Given the description of an element on the screen output the (x, y) to click on. 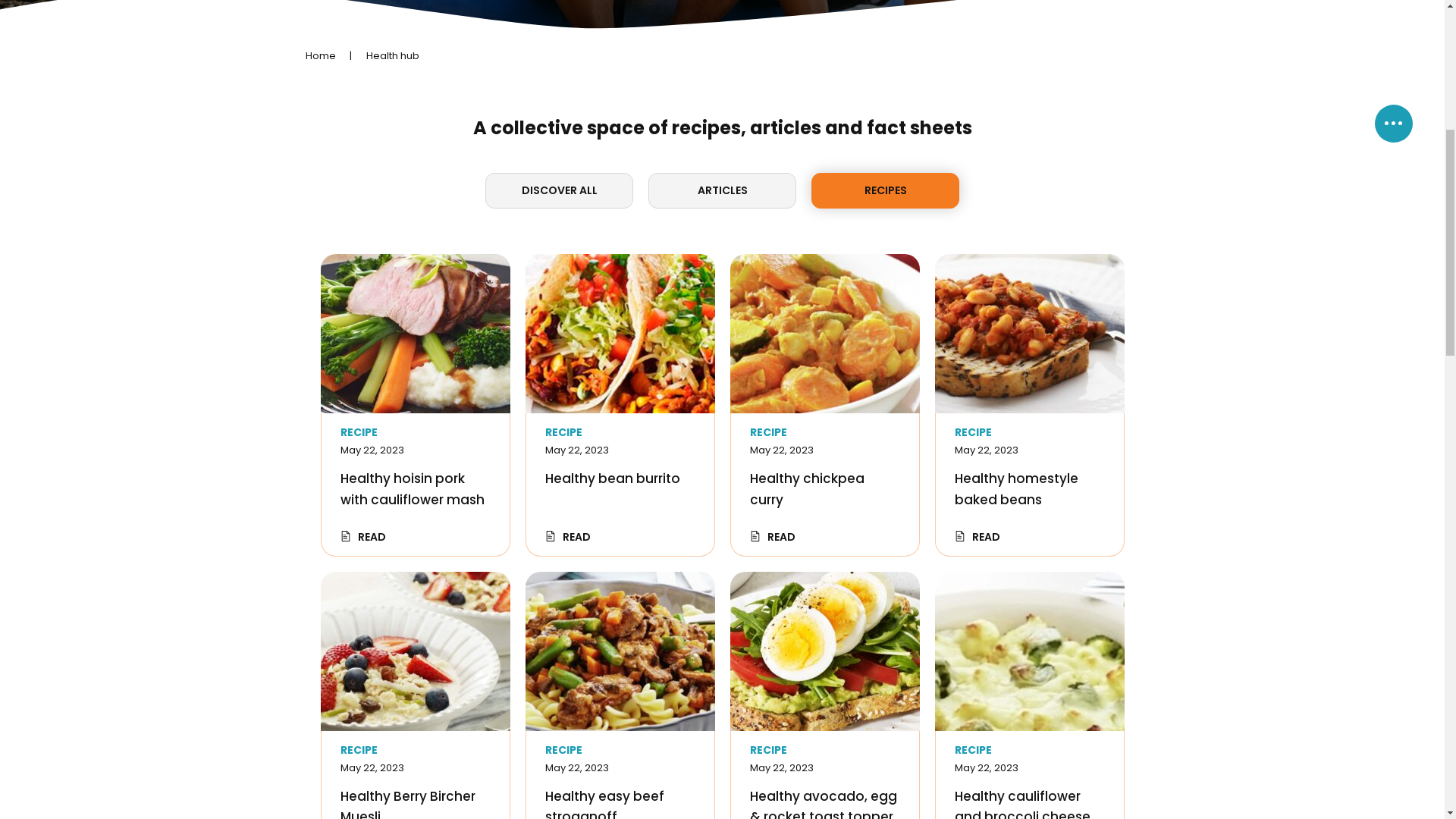
Home Element type: text (319, 485)
DISCOVER ALL Element type: text (559, 620)
RECIPES Element type: text (885, 620)
ARTICLES Element type: text (722, 620)
